Given the description of an element on the screen output the (x, y) to click on. 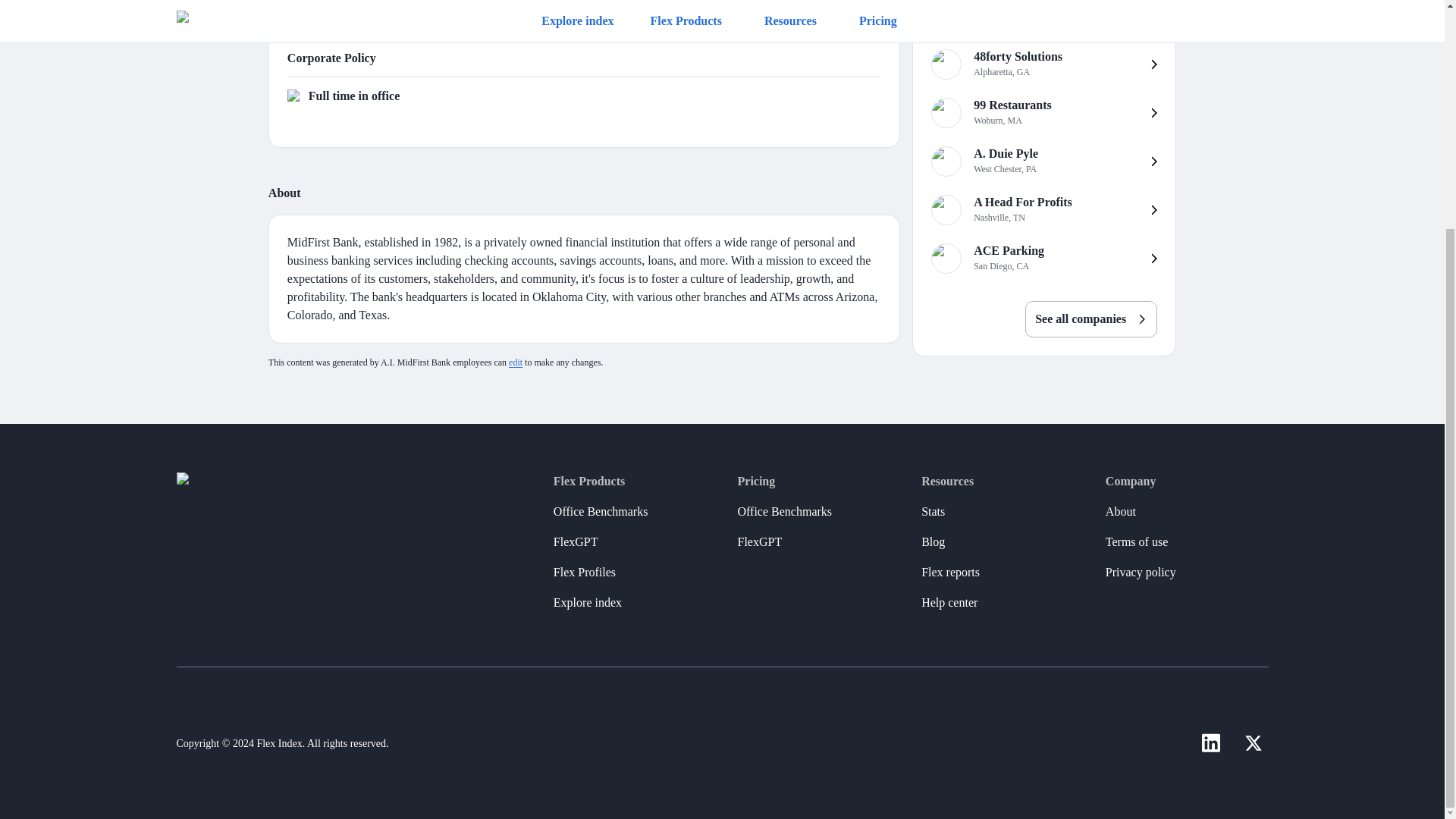
Explore index (587, 603)
edit (1043, 161)
See all companies (1043, 64)
Office Benchmarks (515, 362)
Flex Profiles (1091, 309)
FlexGPT (601, 511)
